Given the description of an element on the screen output the (x, y) to click on. 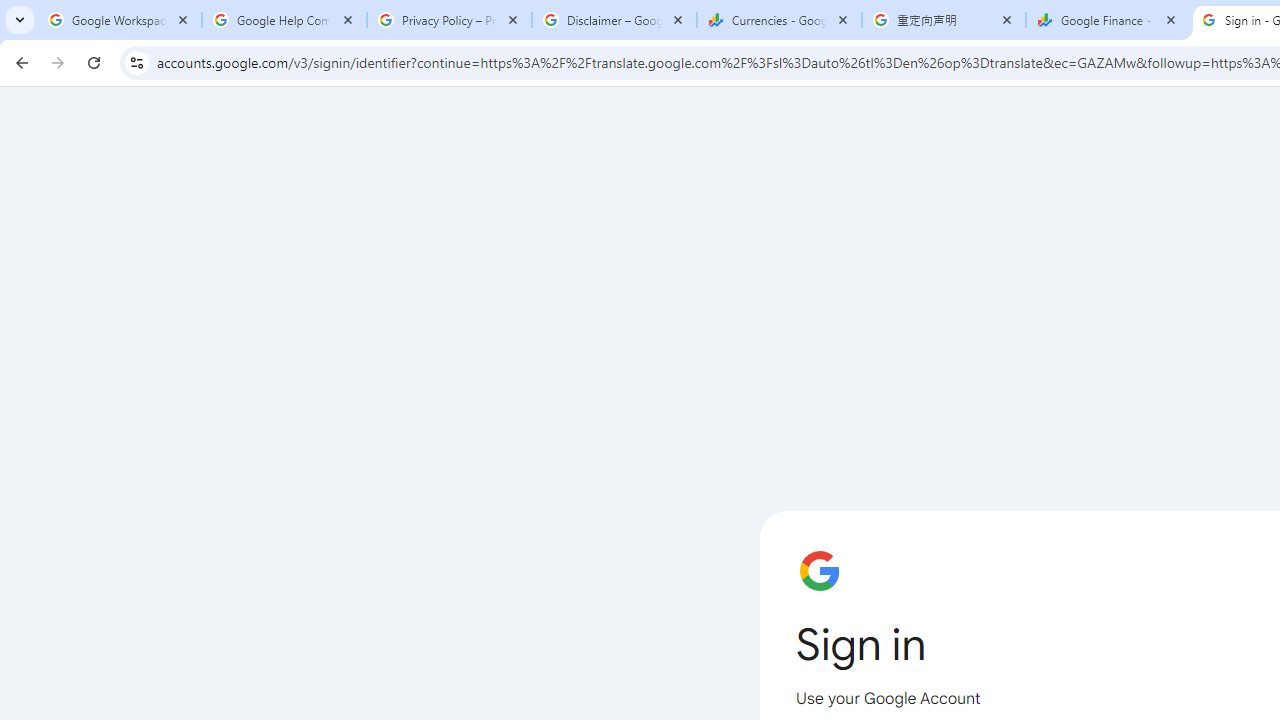
Recent (507, 184)
Browse (507, 564)
Info (104, 559)
Save As (104, 668)
Folders (984, 224)
This PC (507, 414)
Get Add-ins (104, 504)
Shared with Me (507, 255)
New (104, 208)
Back (104, 94)
